Given the description of an element on the screen output the (x, y) to click on. 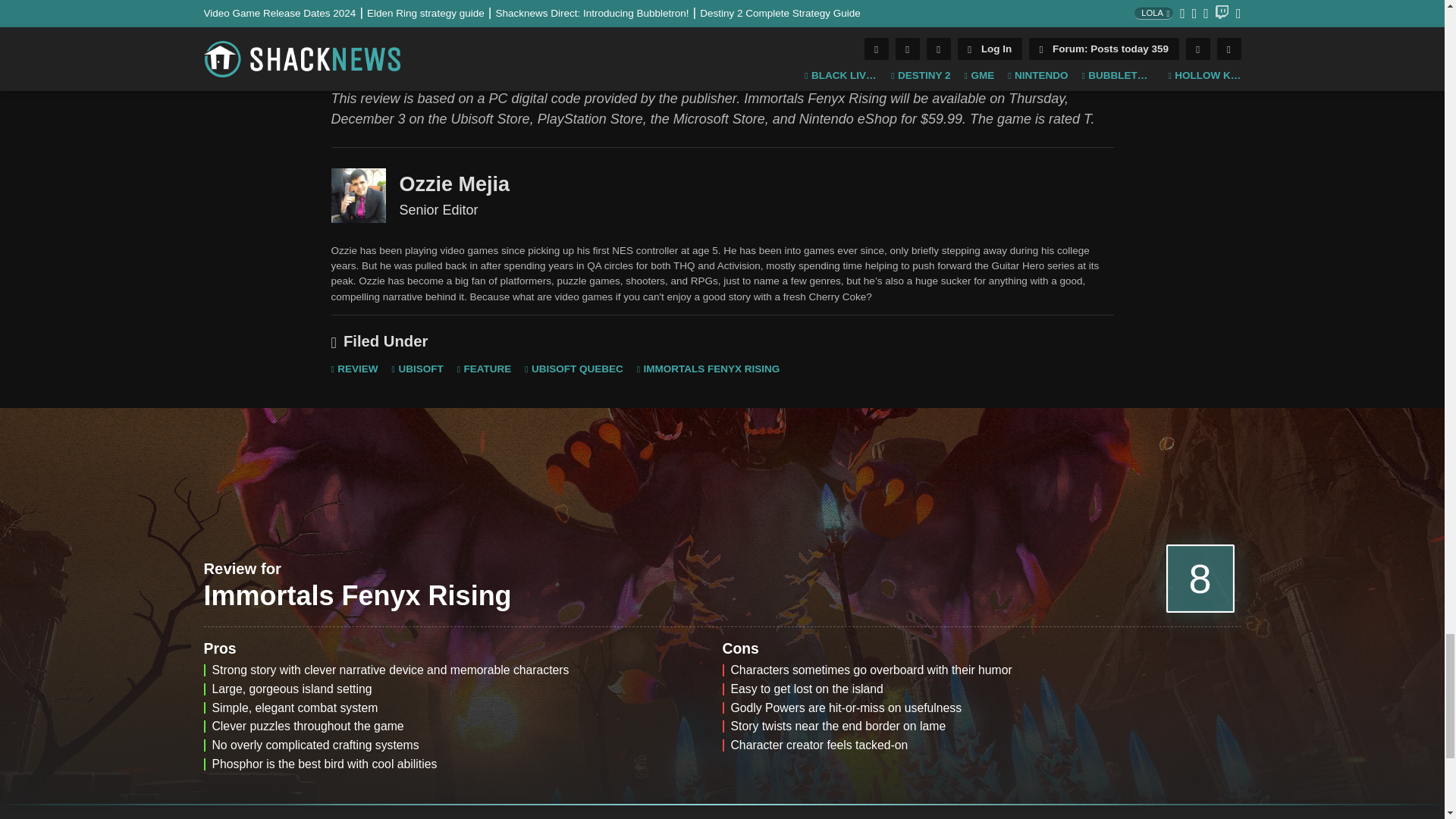
Senior Editor (357, 195)
